Given the description of an element on the screen output the (x, y) to click on. 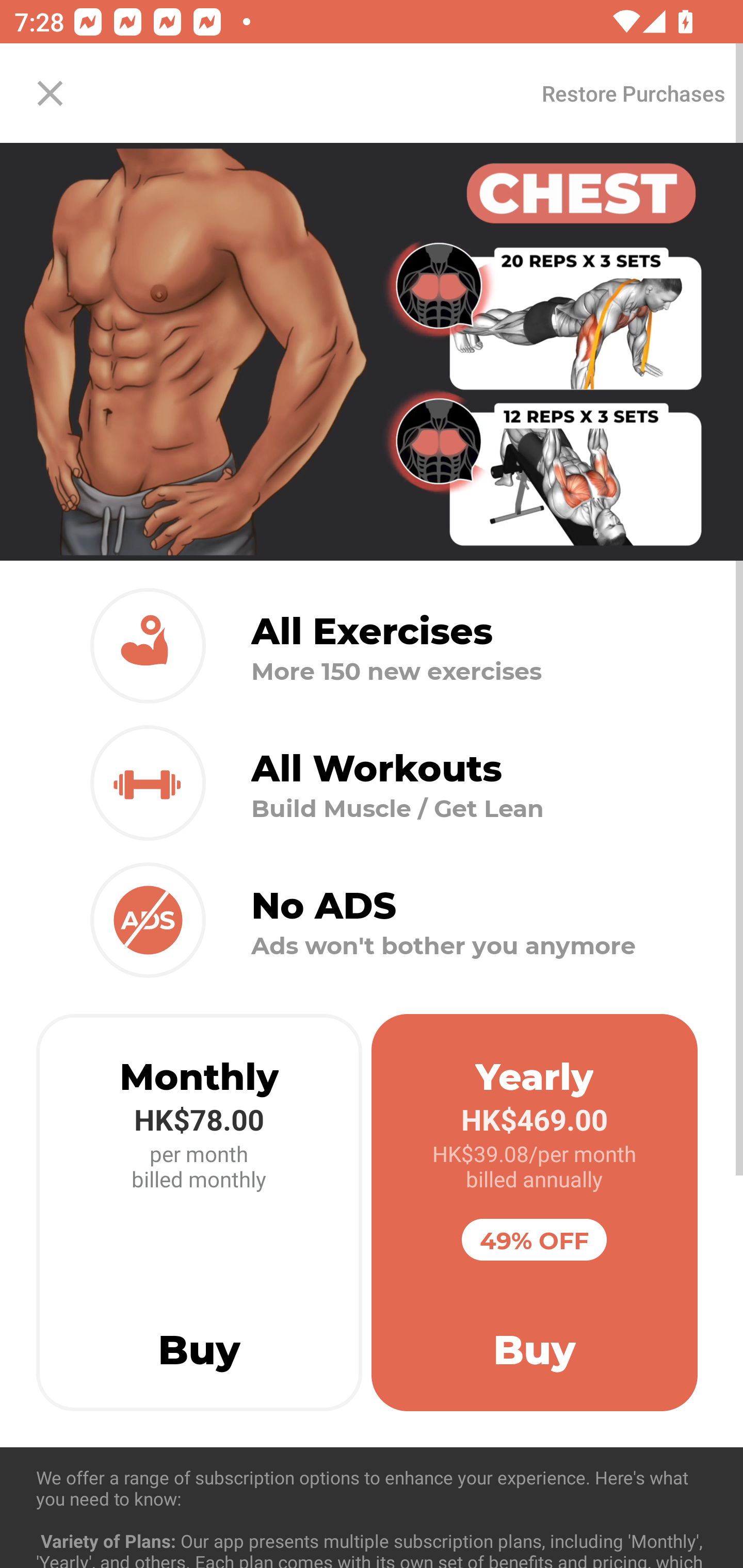
Restore Purchases (632, 92)
Monthly HK$78.00 per month
billed monthly Buy (199, 1212)
